Given the description of an element on the screen output the (x, y) to click on. 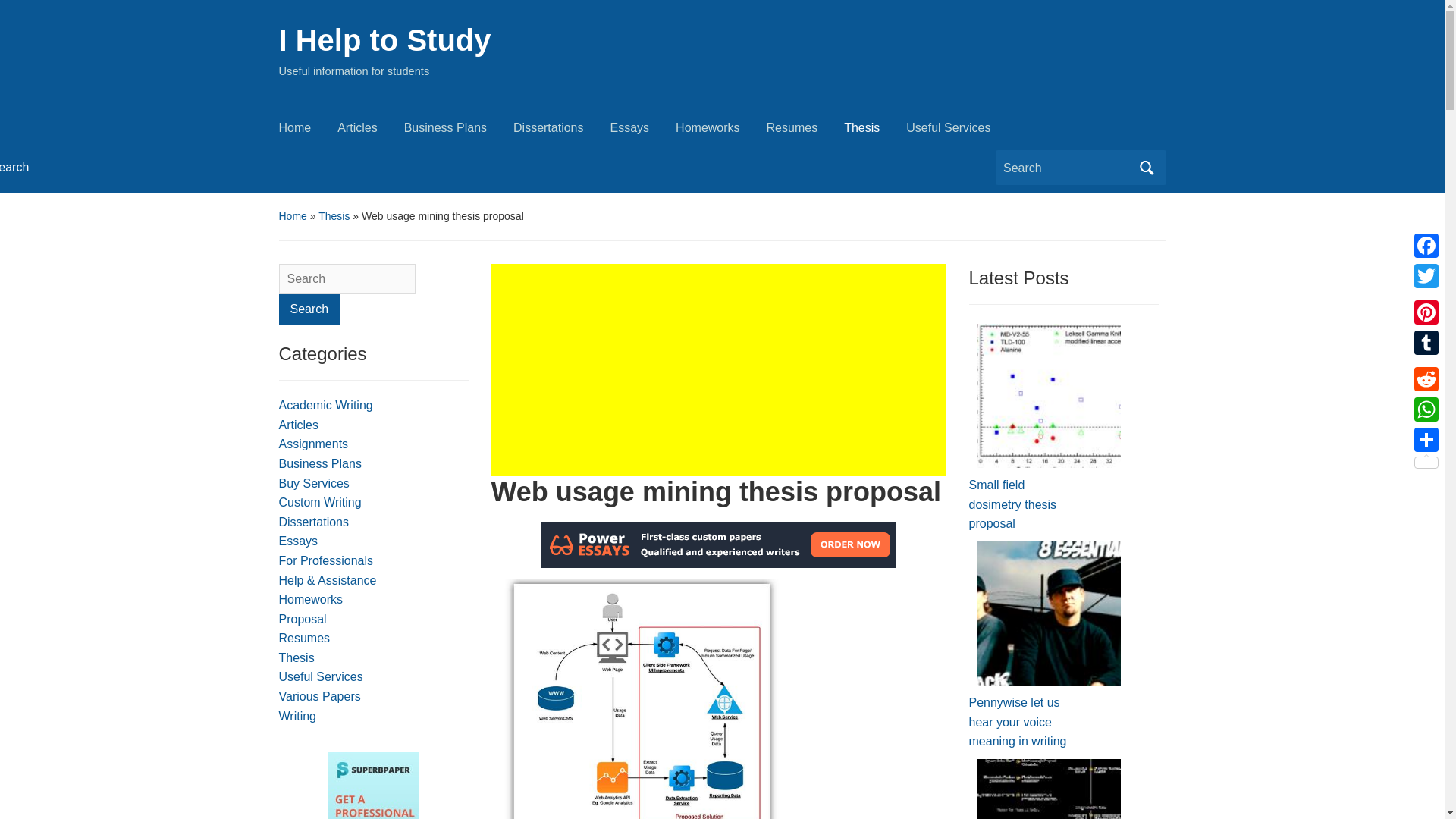
Assignments (314, 443)
I Help to Study - Useful information for students (385, 39)
Thesis (874, 131)
Articles (298, 424)
Dissertations (561, 131)
I Help to Study (385, 39)
Home (293, 215)
Academic Writing (325, 404)
Business Plans (458, 131)
Search (309, 309)
Resumes (805, 131)
Thesis (296, 657)
Resumes (304, 637)
Homeworks (310, 599)
Custom Writing (320, 502)
